Given the description of an element on the screen output the (x, y) to click on. 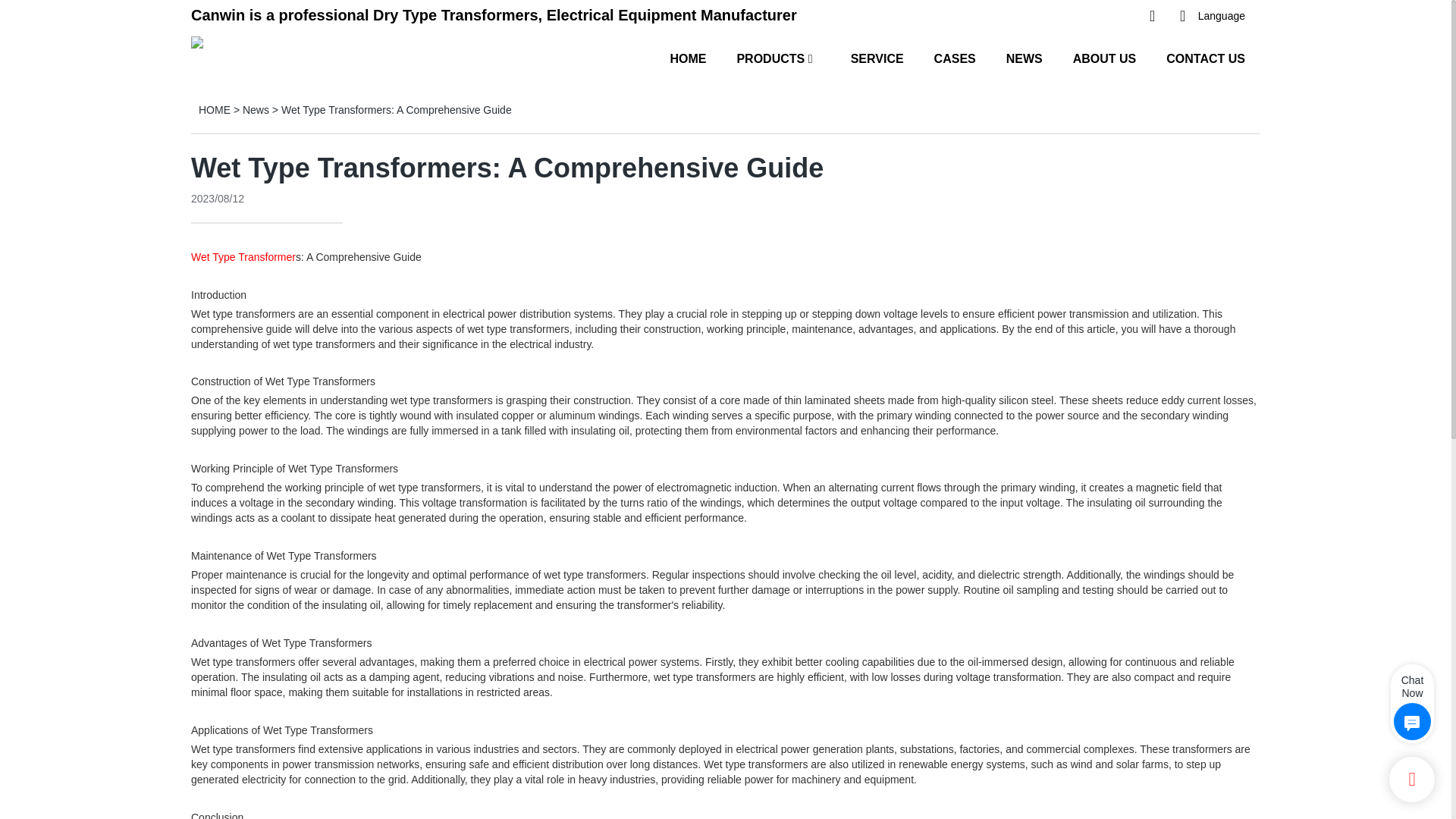
ABOUT US (1105, 58)
CASES (954, 58)
youtube (1053, 15)
Wet Type Transformers: A Comprehensive Guide (396, 110)
Wet Type Transformer (242, 256)
twitter (1083, 15)
SERVICE (877, 58)
HOME (687, 58)
News (256, 110)
NEWS (1024, 58)
